Given the description of an element on the screen output the (x, y) to click on. 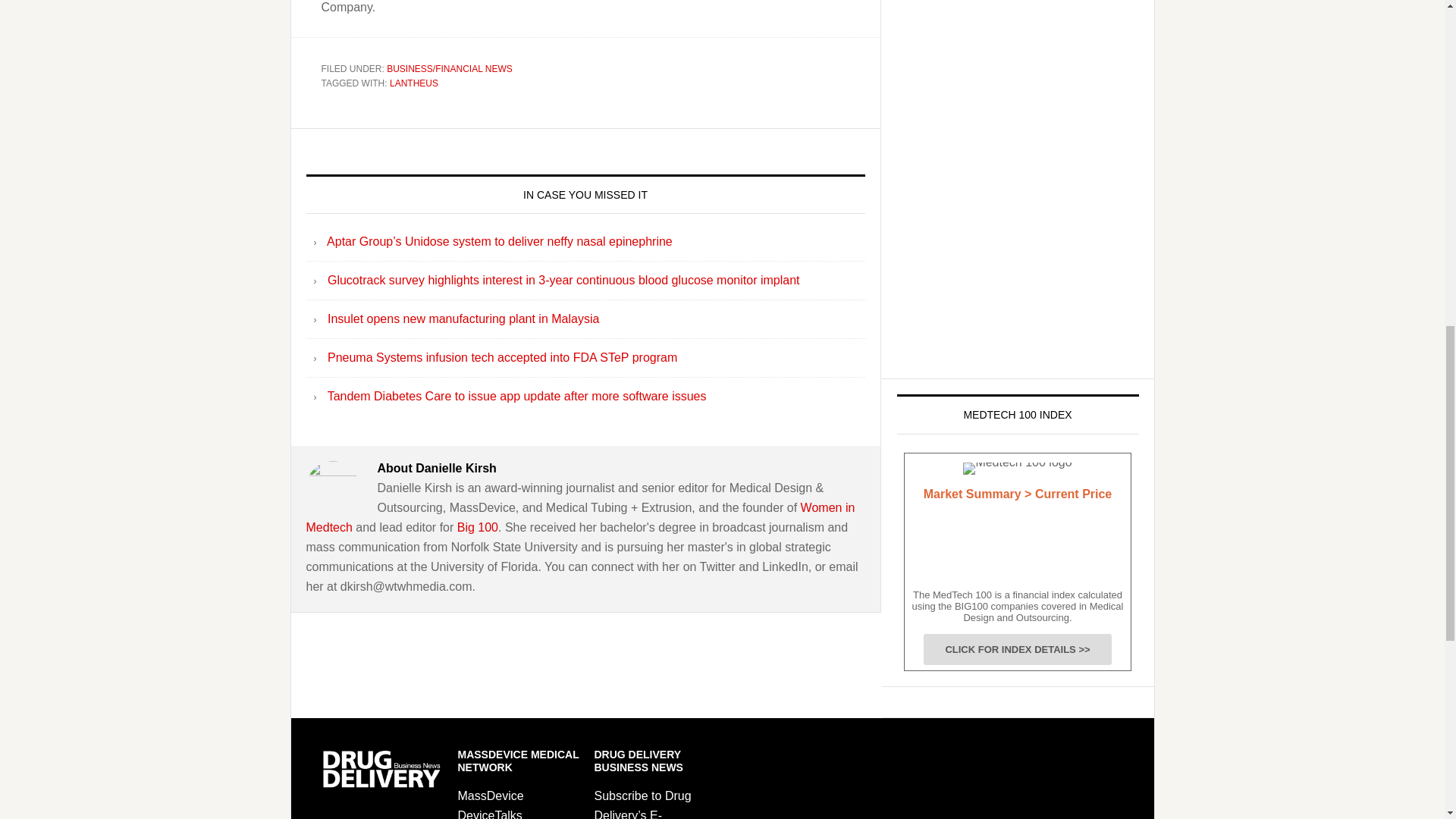
Pneuma Systems infusion tech accepted into FDA STeP program (502, 357)
LANTHEUS (414, 82)
MassDevice (491, 795)
DeviceTalks (490, 814)
Women in Medtech (580, 517)
Big 100 (477, 526)
Insulet opens new manufacturing plant in Malaysia (462, 318)
